Given the description of an element on the screen output the (x, y) to click on. 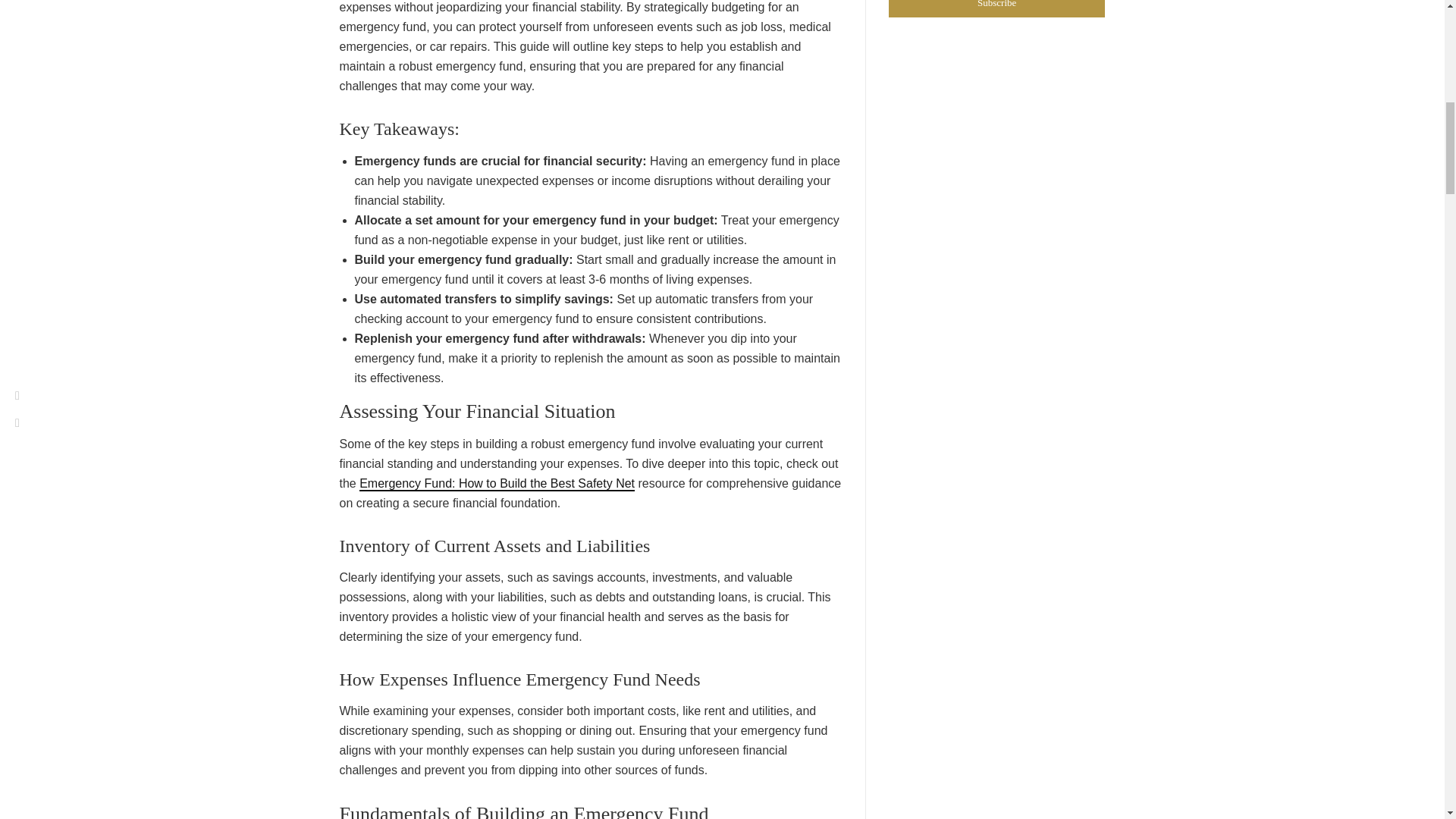
Emergency Fund: How to Build the Best Safety Net (496, 483)
